Given the description of an element on the screen output the (x, y) to click on. 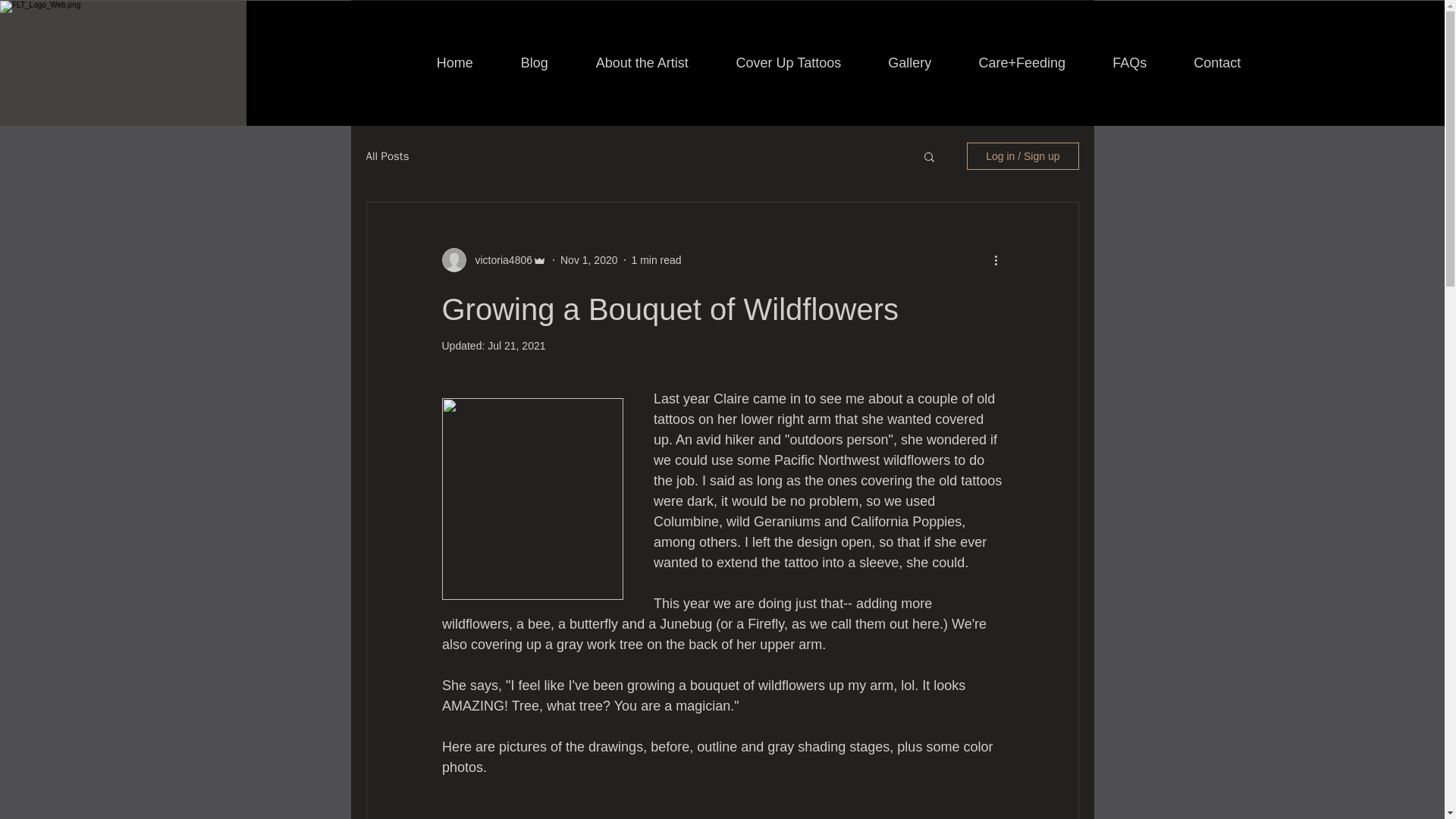
FAQs (1129, 63)
About the Artist (641, 63)
Blog (534, 63)
victoria4806 (498, 259)
Nov 1, 2020 (588, 259)
All Posts (387, 155)
1 min read (655, 259)
Jul 21, 2021 (515, 345)
Gallery (909, 63)
Cover Up Tattoos (787, 63)
